Given the description of an element on the screen output the (x, y) to click on. 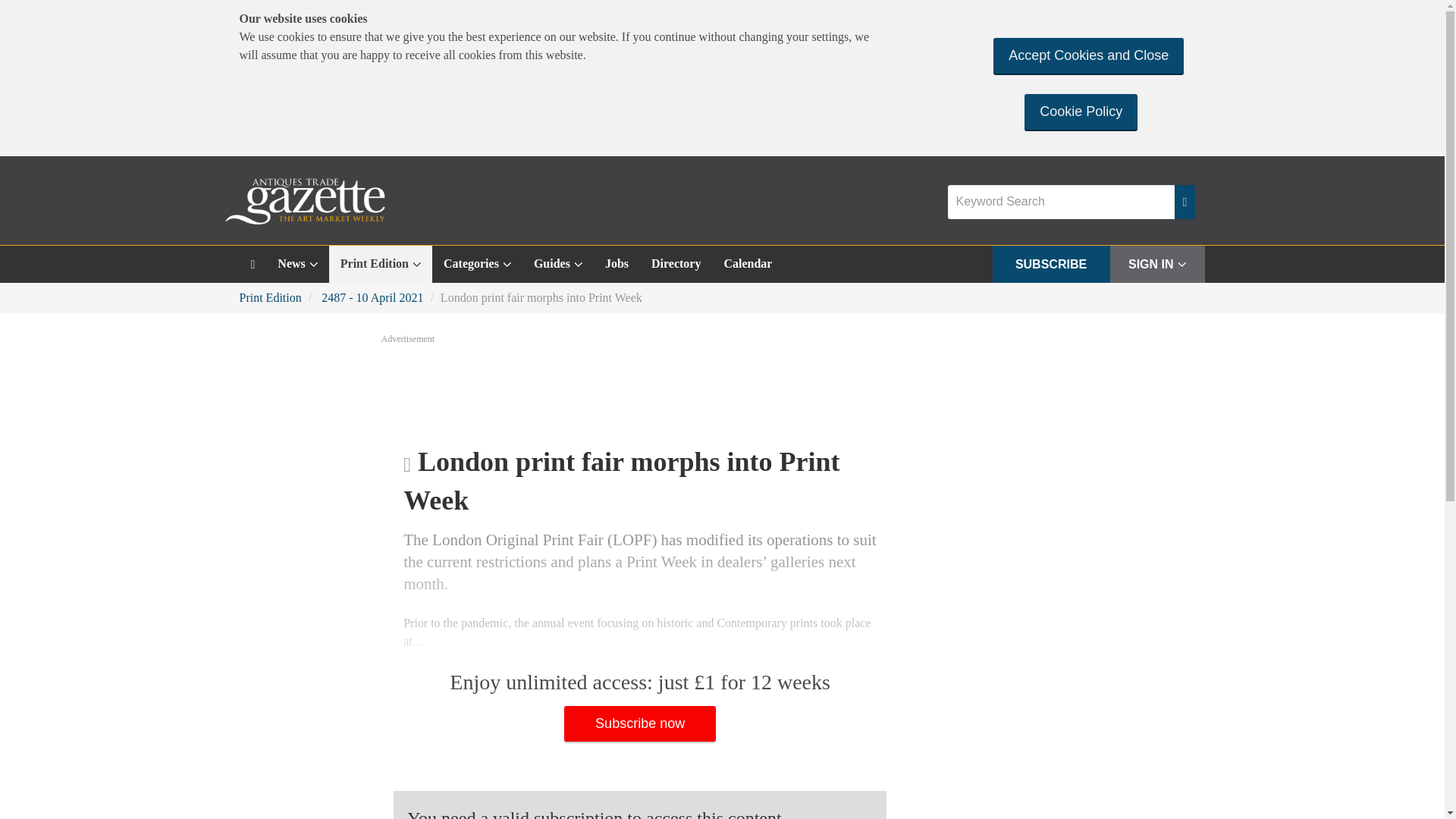
Keyword Search (1060, 202)
3rd party ad content (721, 387)
News (297, 263)
Cookie Policy (1081, 111)
